Given the description of an element on the screen output the (x, y) to click on. 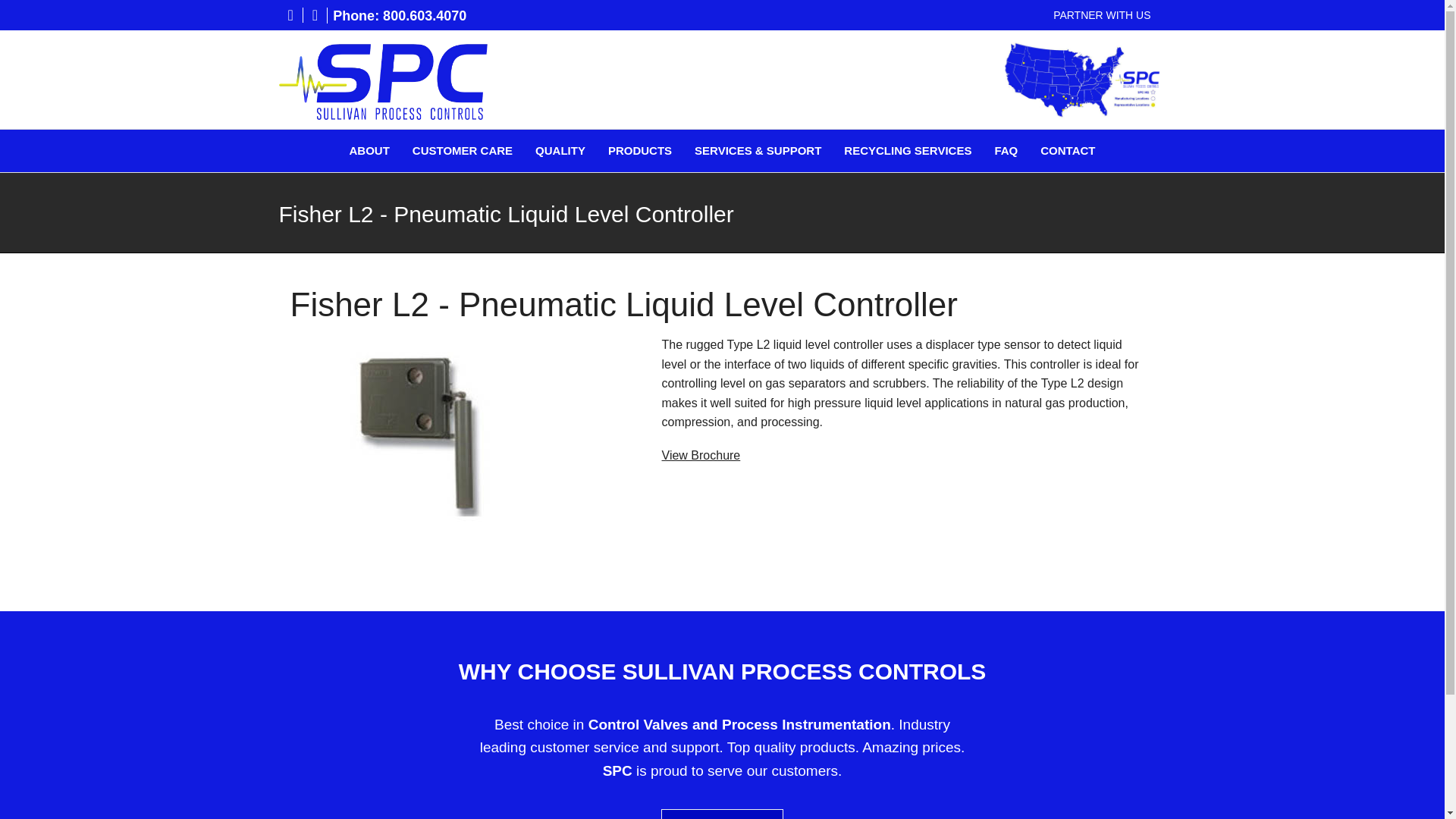
ABOUT (368, 150)
QUALITY (560, 150)
About (368, 150)
CONTACT (1067, 150)
RECYCLING SERVICES (907, 150)
Find Out More (722, 814)
CUSTOMER CARE (462, 150)
View Brochure (700, 454)
PRODUCTS (639, 150)
PARTNER WITH US (1102, 14)
